Given the description of an element on the screen output the (x, y) to click on. 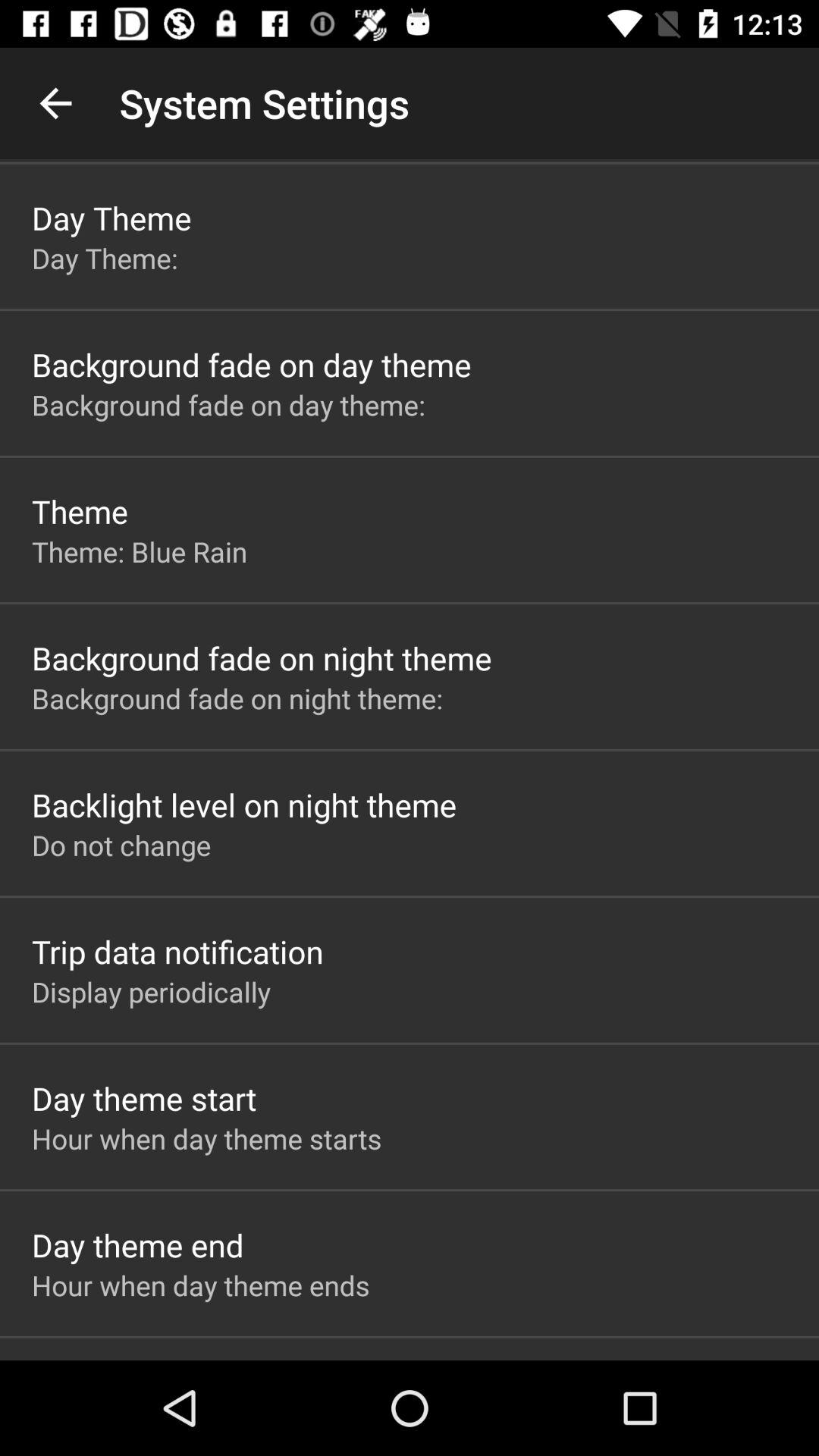
turn on icon above the day theme item (55, 103)
